Given the description of an element on the screen output the (x, y) to click on. 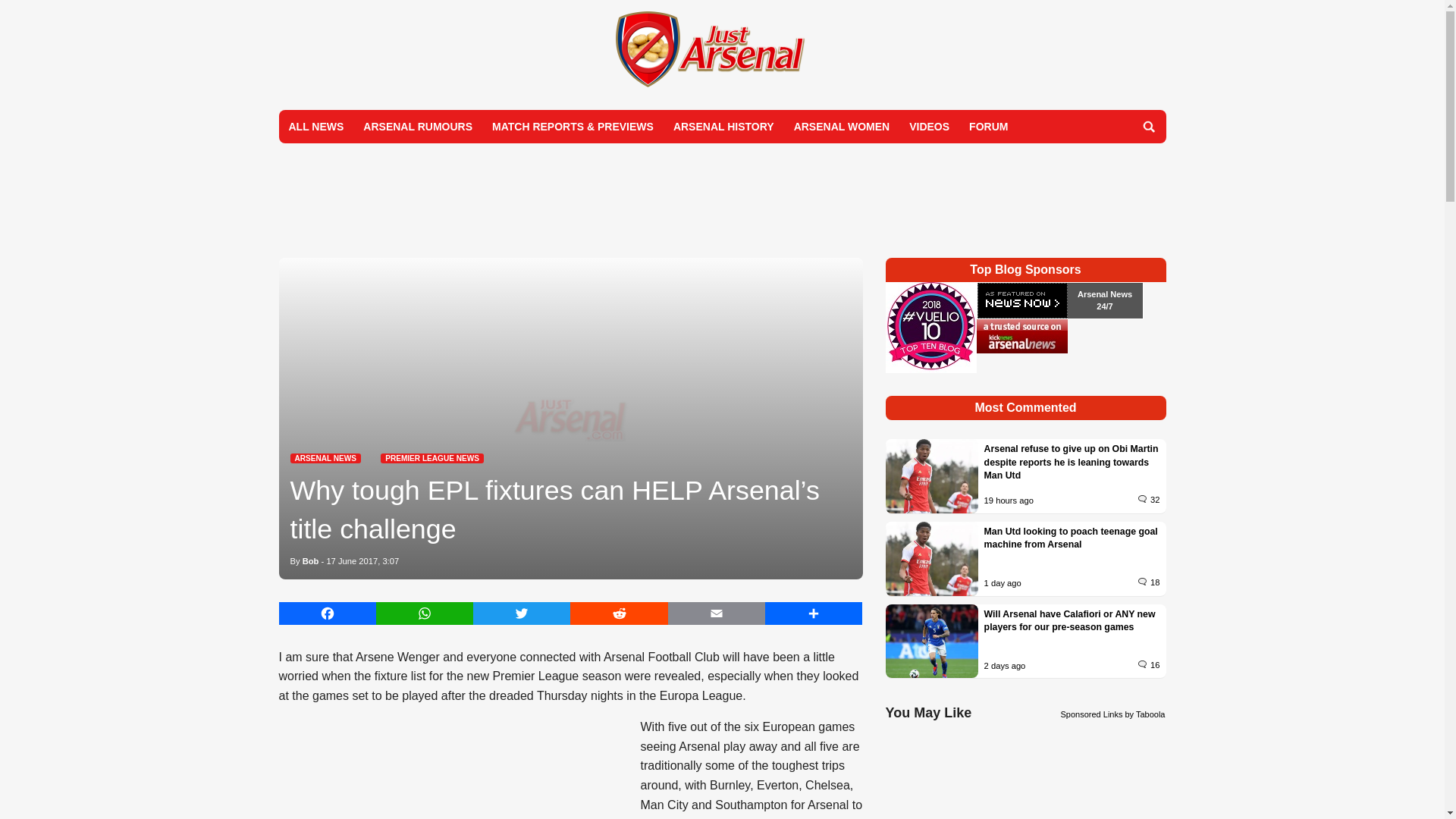
Email (716, 612)
Reddit (618, 612)
FORUM (988, 126)
Latest Premier league news News (431, 458)
Twitter (521, 612)
ARSENAL WOMEN (841, 126)
PREMIER LEAGUE NEWS (431, 458)
Search (1147, 126)
ARSENAL NEWS (325, 458)
ARSENAL HISTORY (723, 126)
ARSENAL RUMOURS (417, 126)
Email (716, 612)
WhatsApp (424, 612)
ALL NEWS (316, 126)
WhatsApp (424, 612)
